Given the description of an element on the screen output the (x, y) to click on. 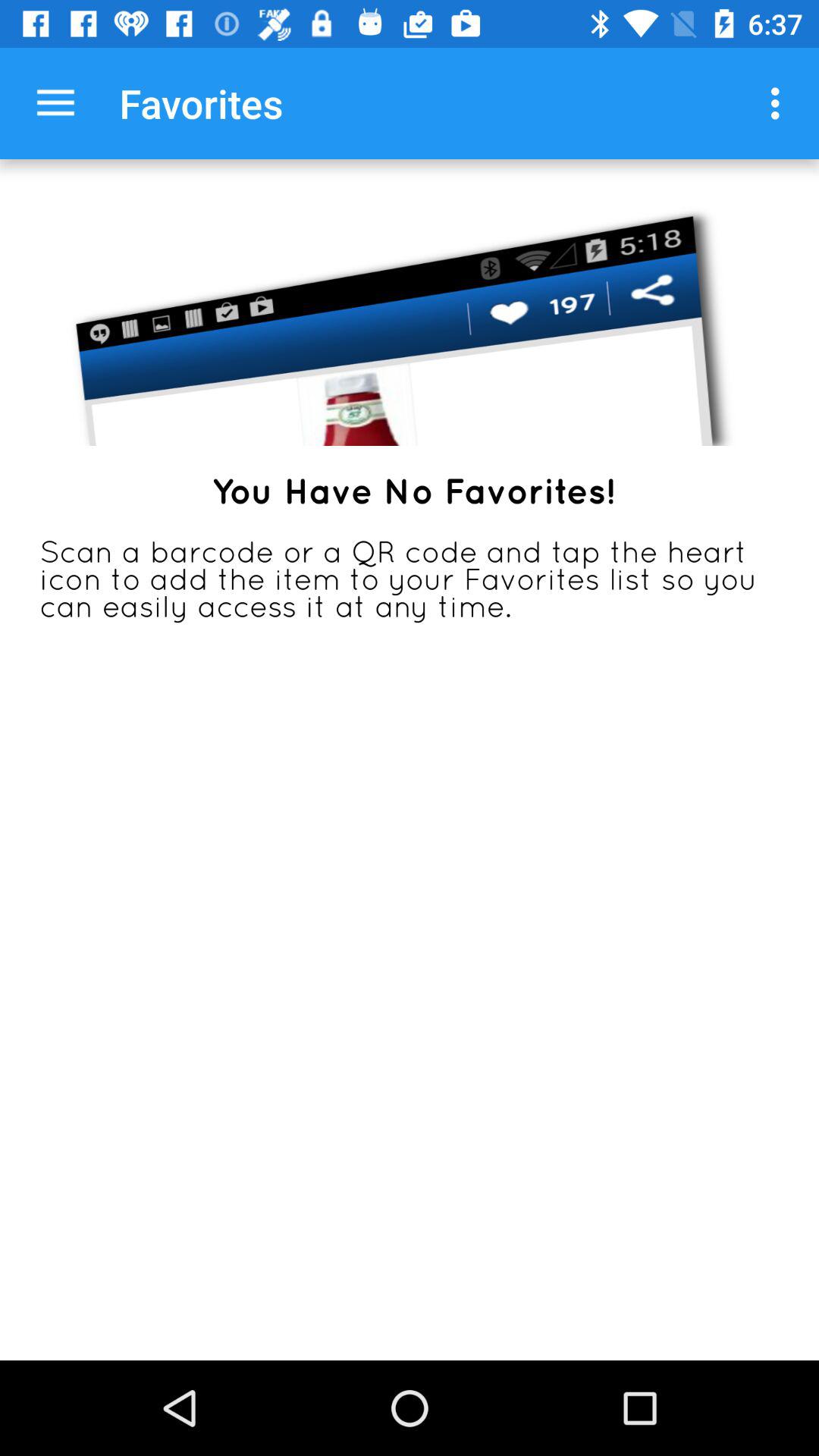
press the item next to the favorites item (55, 103)
